Given the description of an element on the screen output the (x, y) to click on. 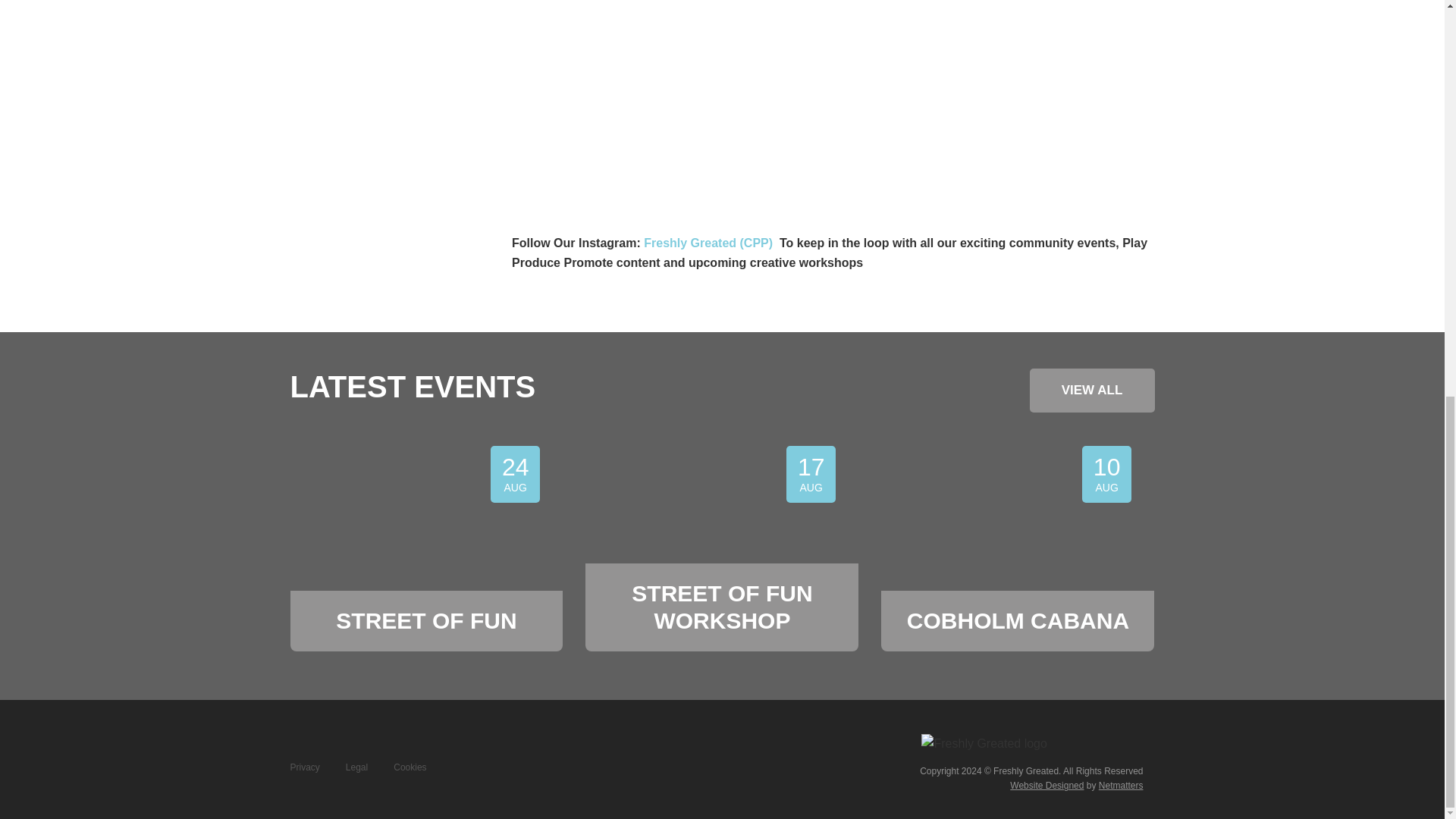
VIEW ALL (1091, 390)
Privacy (303, 767)
Legal (425, 542)
Netmatters (357, 767)
Cookies (1017, 542)
Website Designed (1120, 785)
